Given the description of an element on the screen output the (x, y) to click on. 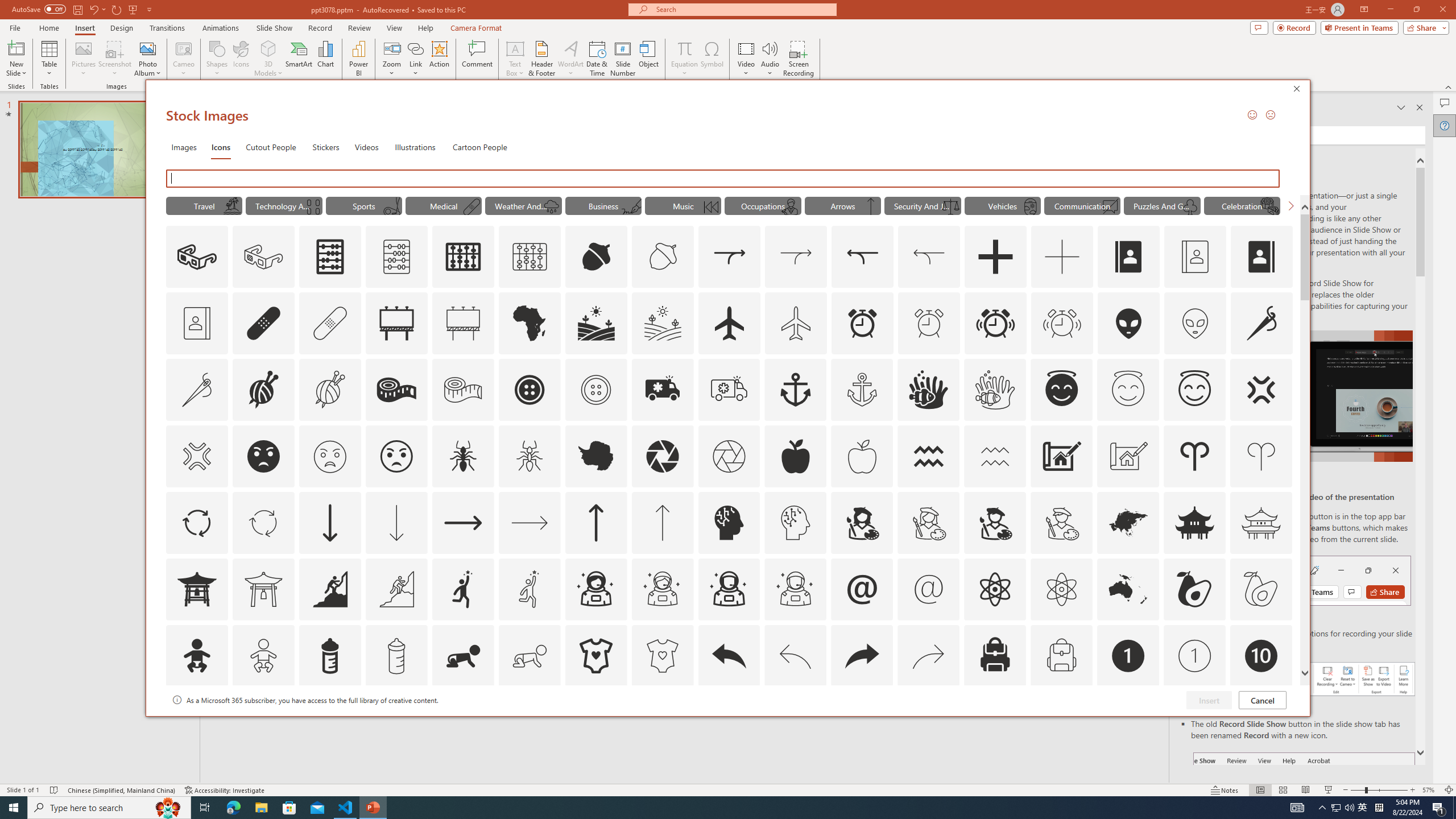
AutomationID: Icons_BabyBottle (329, 655)
AutomationID: Icons_AlarmClock_M (928, 323)
Thumbnail (1283, 699)
AutomationID: Icons_AddressBook_RTL_M (197, 323)
